Given the description of an element on the screen output the (x, y) to click on. 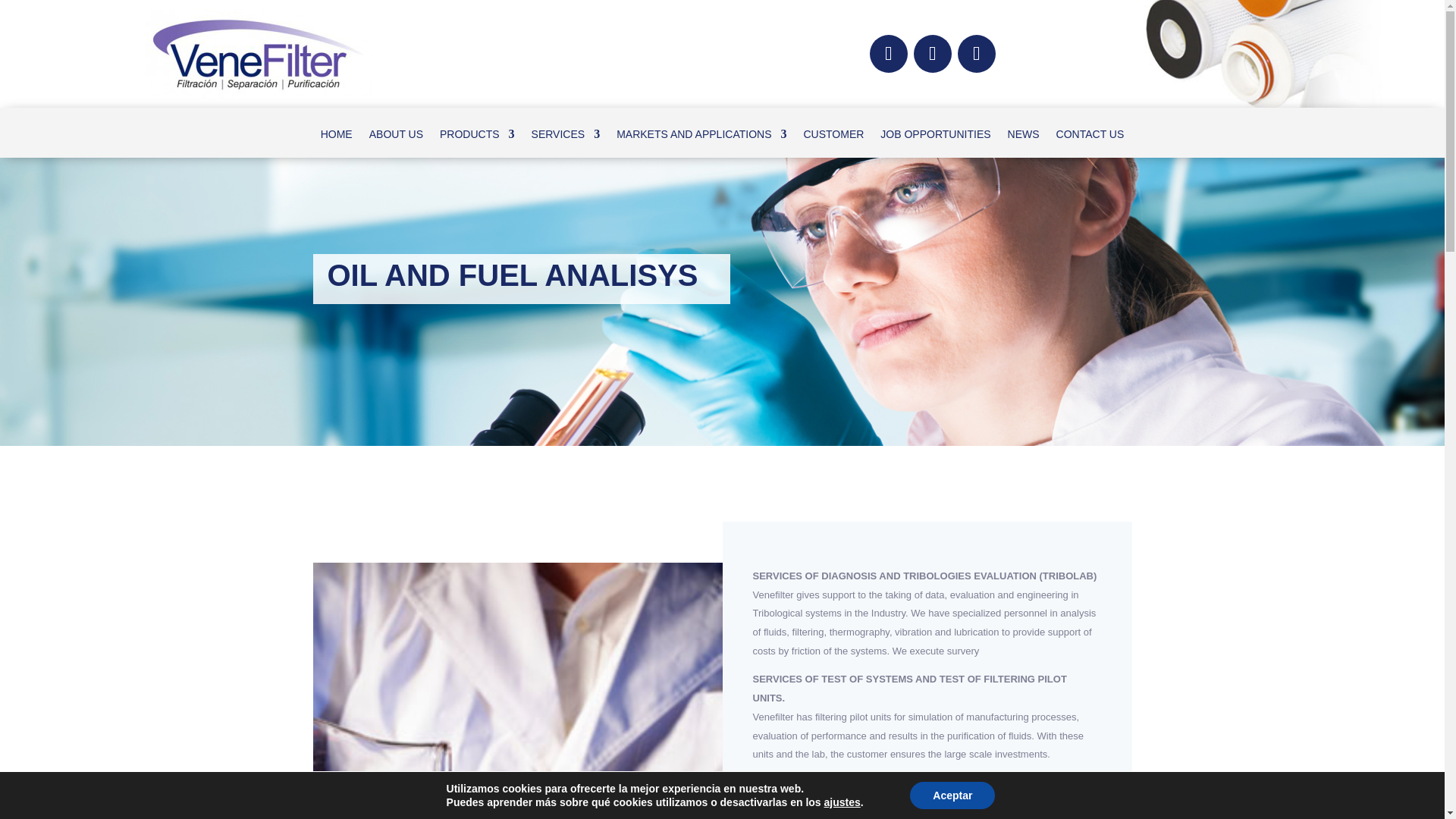
HOME (336, 136)
Seguir en Facebook (888, 53)
ABOUT US (396, 136)
OA2 (517, 690)
PRODUCTS (477, 136)
Seguir en LinkedIn (933, 53)
logo-web (257, 53)
Seguir en Youtube (976, 53)
